Given the description of an element on the screen output the (x, y) to click on. 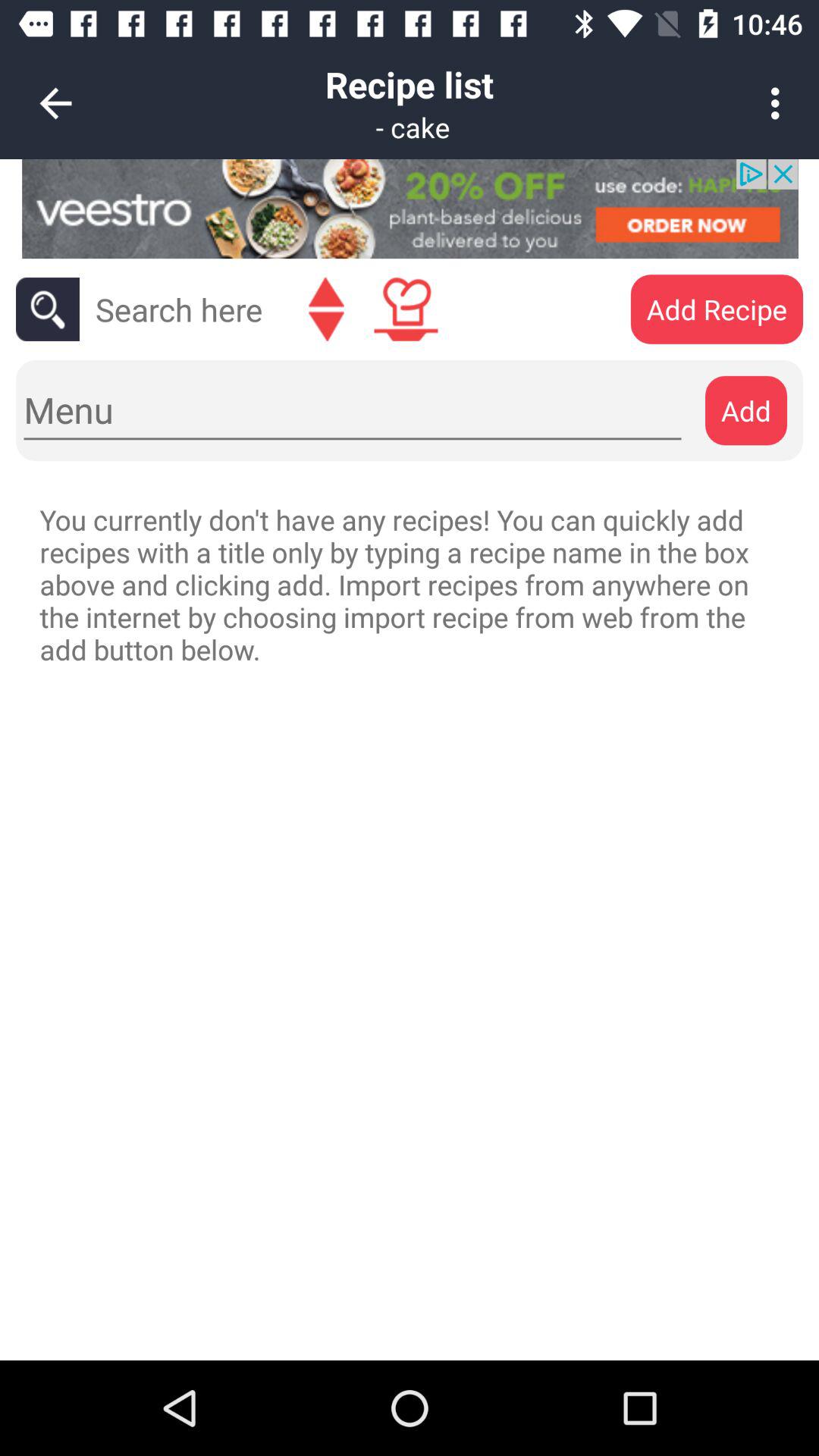
open advertisement (409, 208)
